Given the description of an element on the screen output the (x, y) to click on. 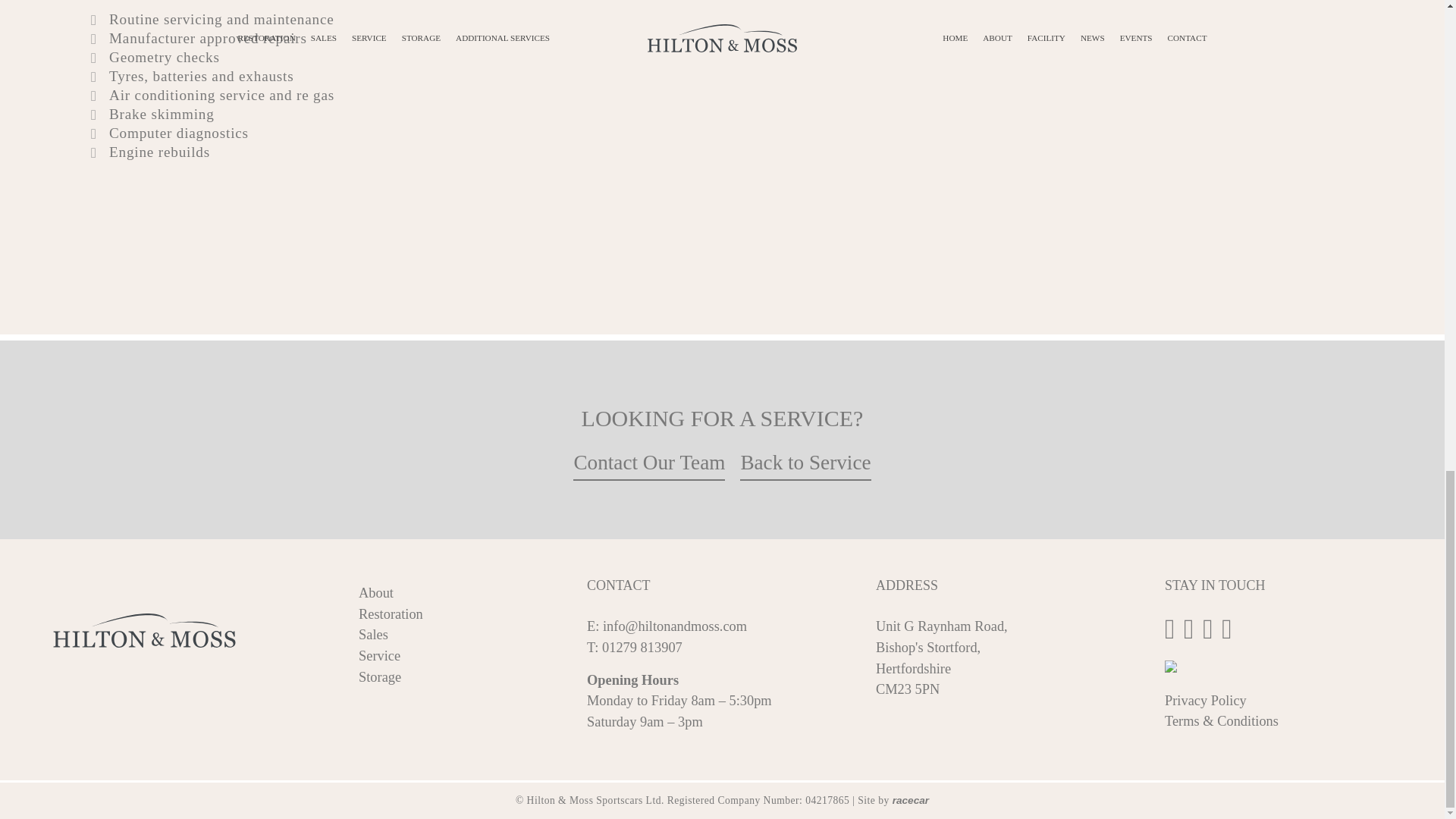
Back to Service (804, 462)
Service (379, 655)
Restoration (390, 613)
About (375, 592)
Contact Our Team (649, 462)
Storage (379, 676)
Sales (373, 634)
